Given the description of an element on the screen output the (x, y) to click on. 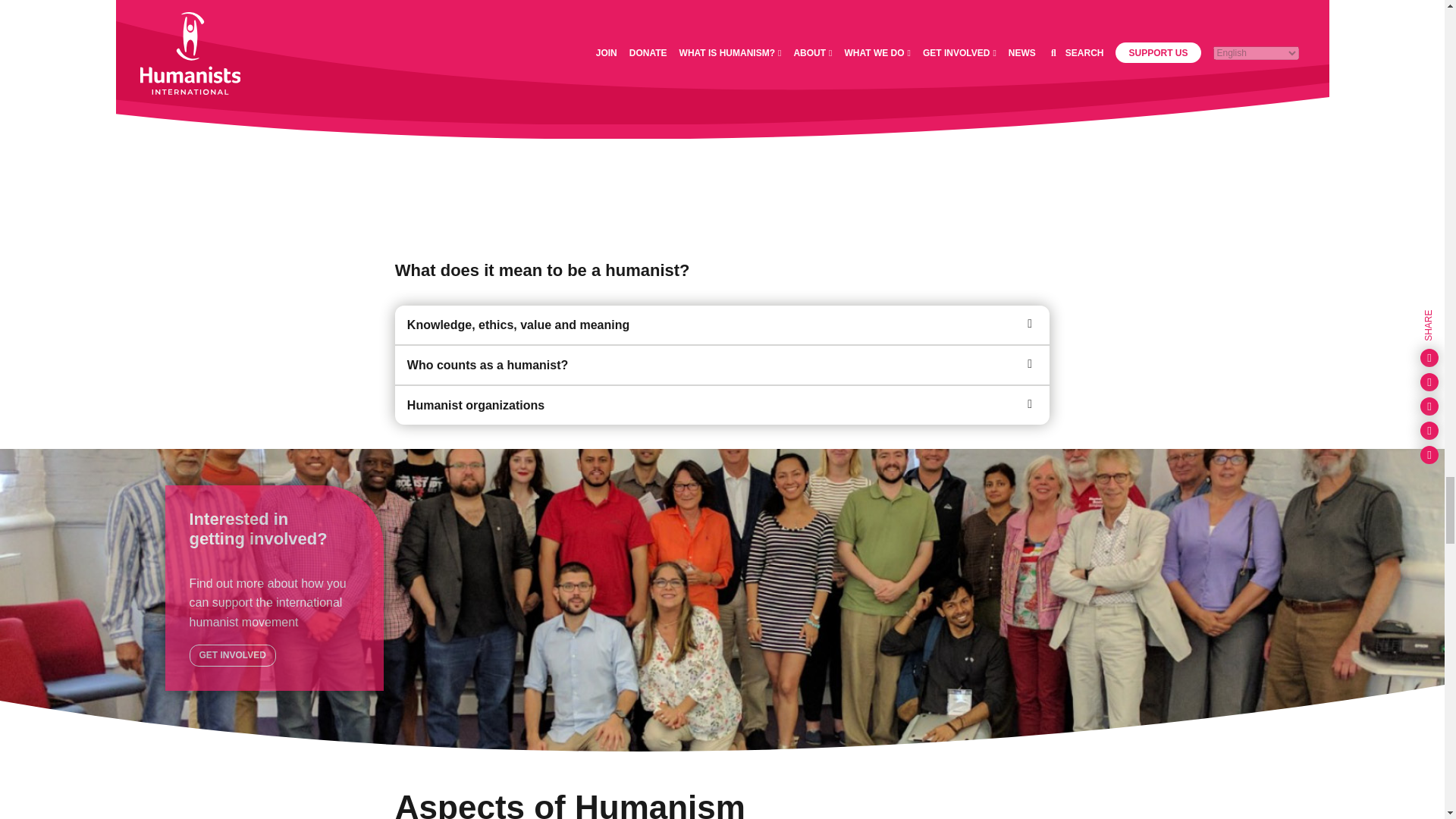
Get involved (232, 655)
